Given the description of an element on the screen output the (x, y) to click on. 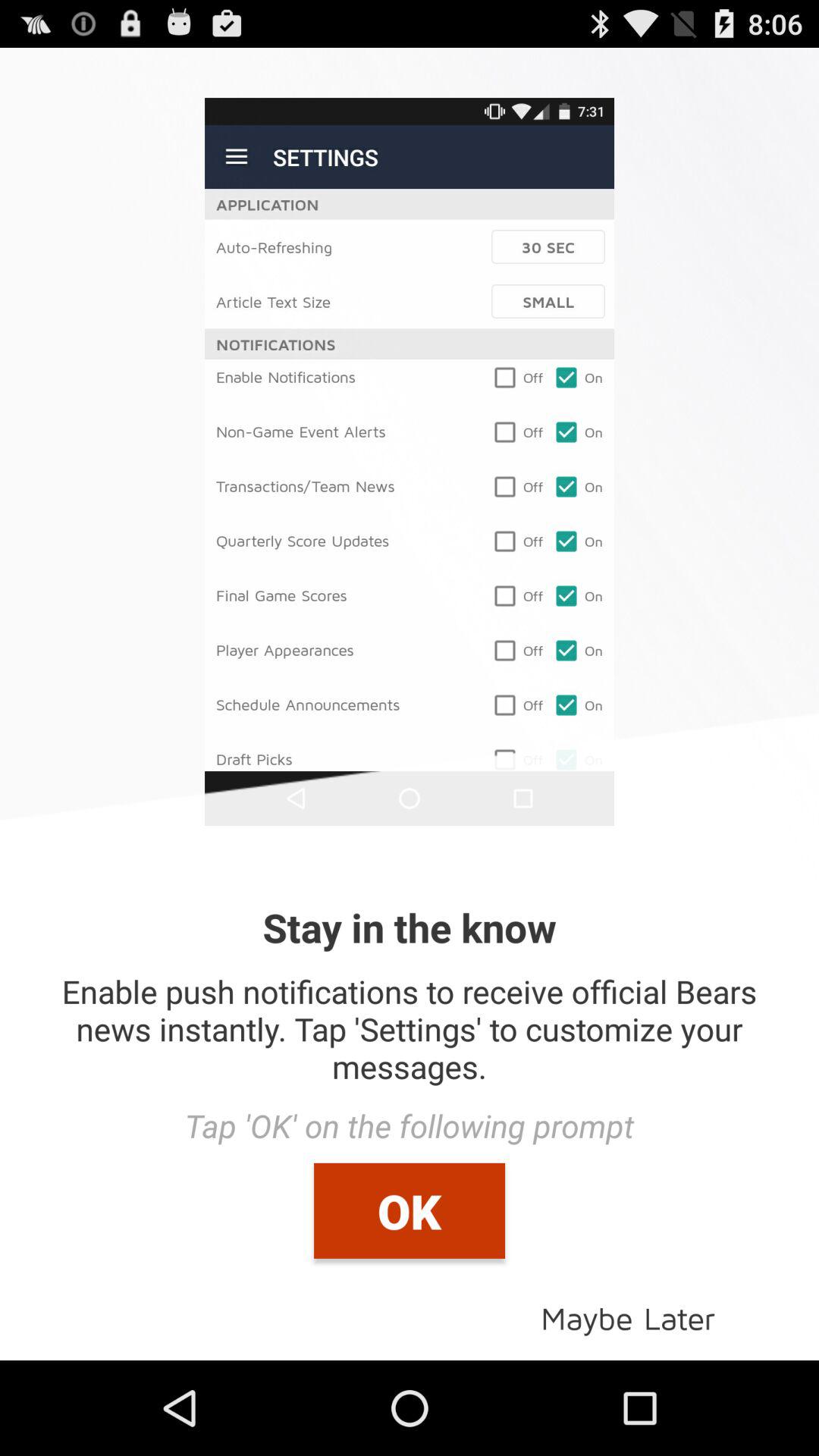
flip until the maybe later item (627, 1317)
